Given the description of an element on the screen output the (x, y) to click on. 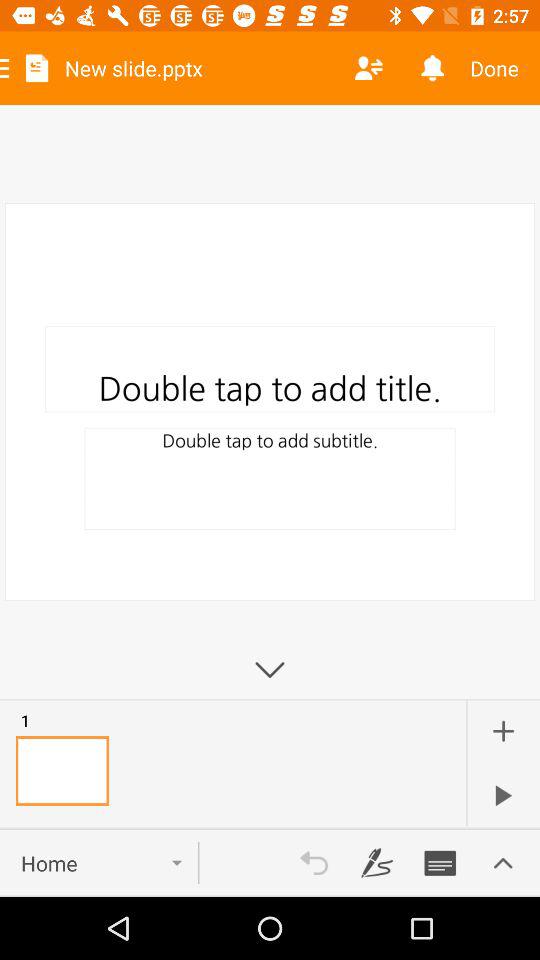
go to next (503, 795)
